Given the description of an element on the screen output the (x, y) to click on. 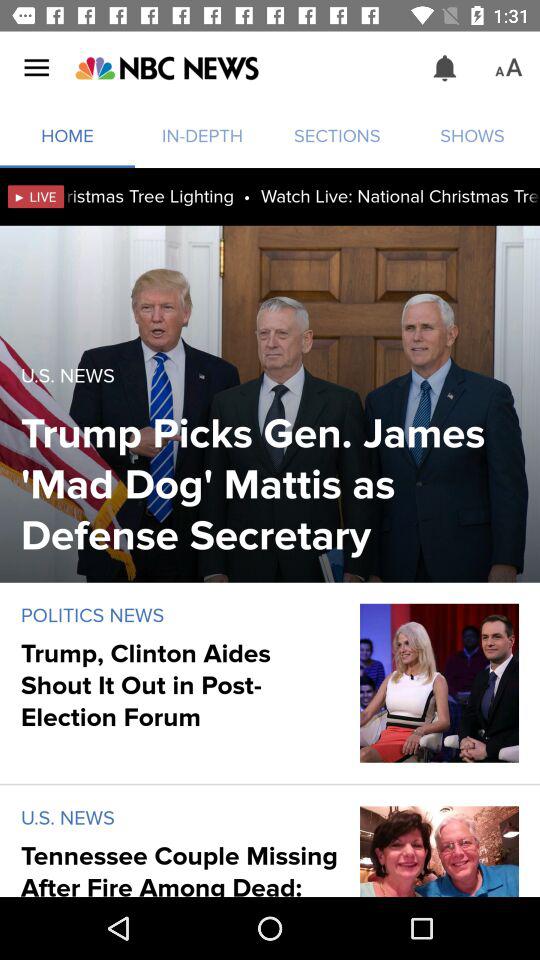
turn off the icon to the left of sections item (166, 68)
